Given the description of an element on the screen output the (x, y) to click on. 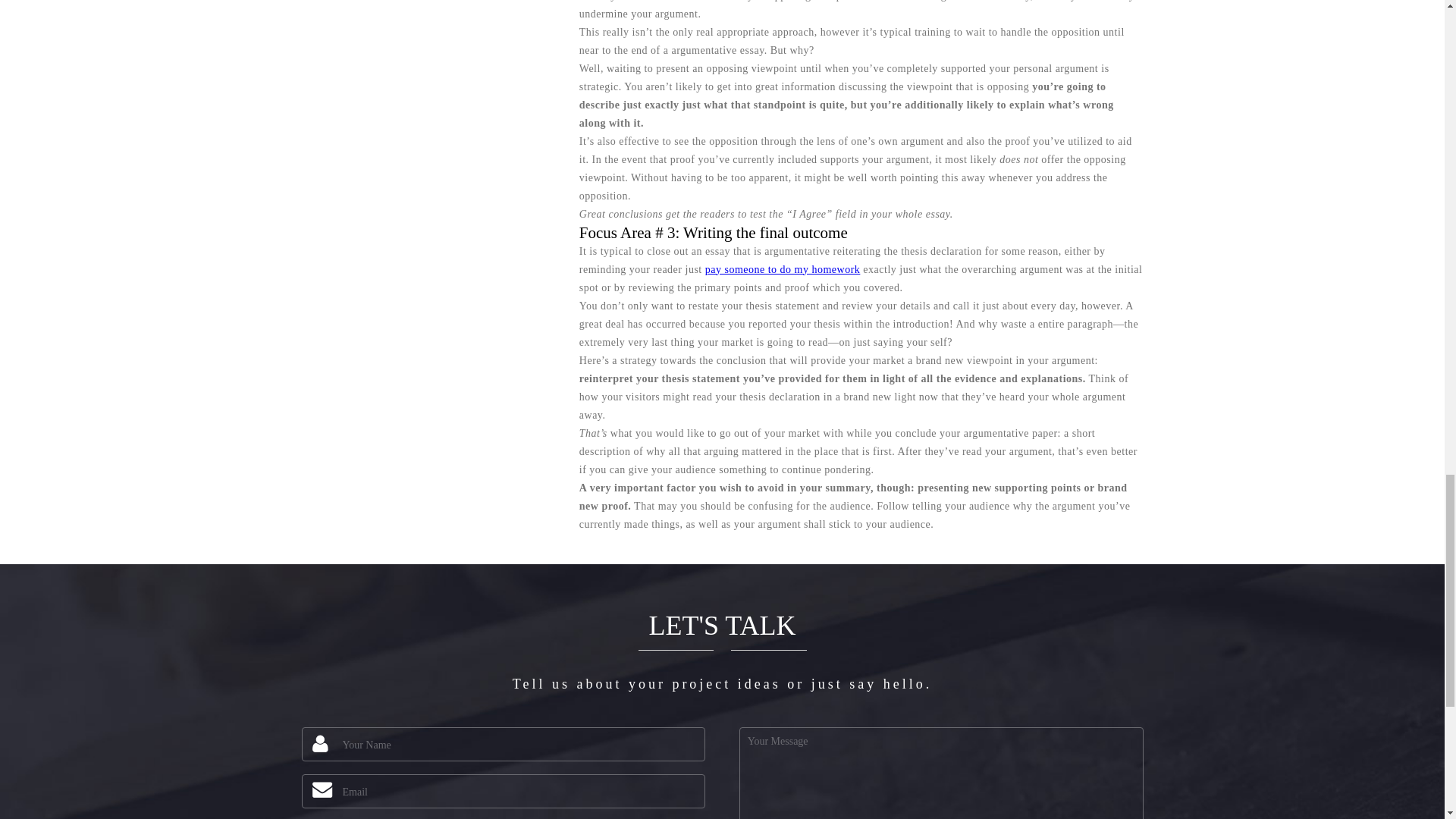
pay someone to do my homework (782, 269)
